Given the description of an element on the screen output the (x, y) to click on. 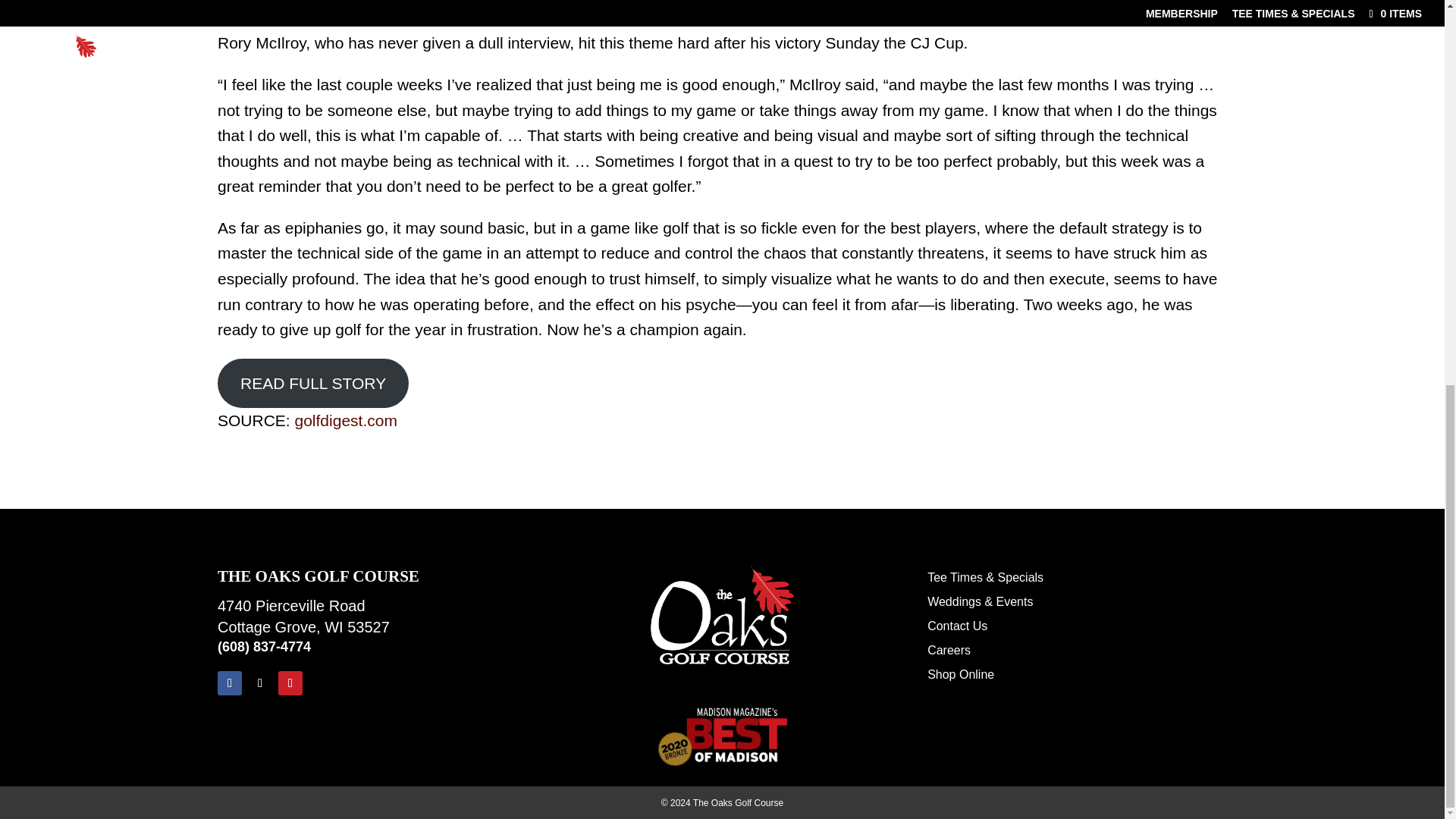
Madison Magazine's Best of Madison 2020 Award Winner (721, 737)
The Oaks Golf Course (722, 614)
Follow on X (259, 682)
Follow on Facebook (228, 682)
Follow on Pinterest (290, 682)
